Given the description of an element on the screen output the (x, y) to click on. 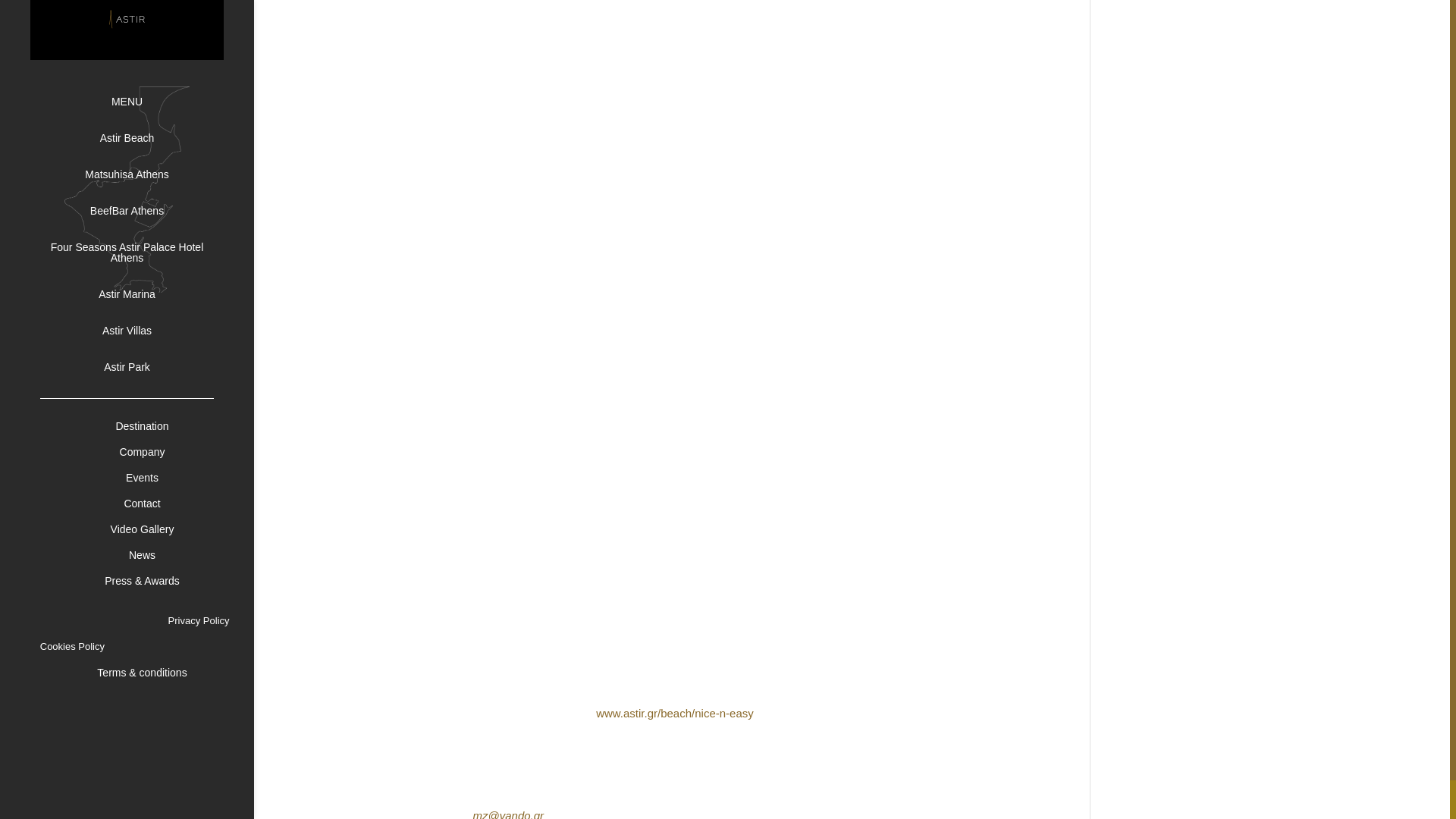
Astir Beach (142, 139)
MENU (142, 103)
Video Gallery (142, 529)
Privacy Policy (199, 620)
Contact (142, 503)
Astir Park (142, 368)
